Given the description of an element on the screen output the (x, y) to click on. 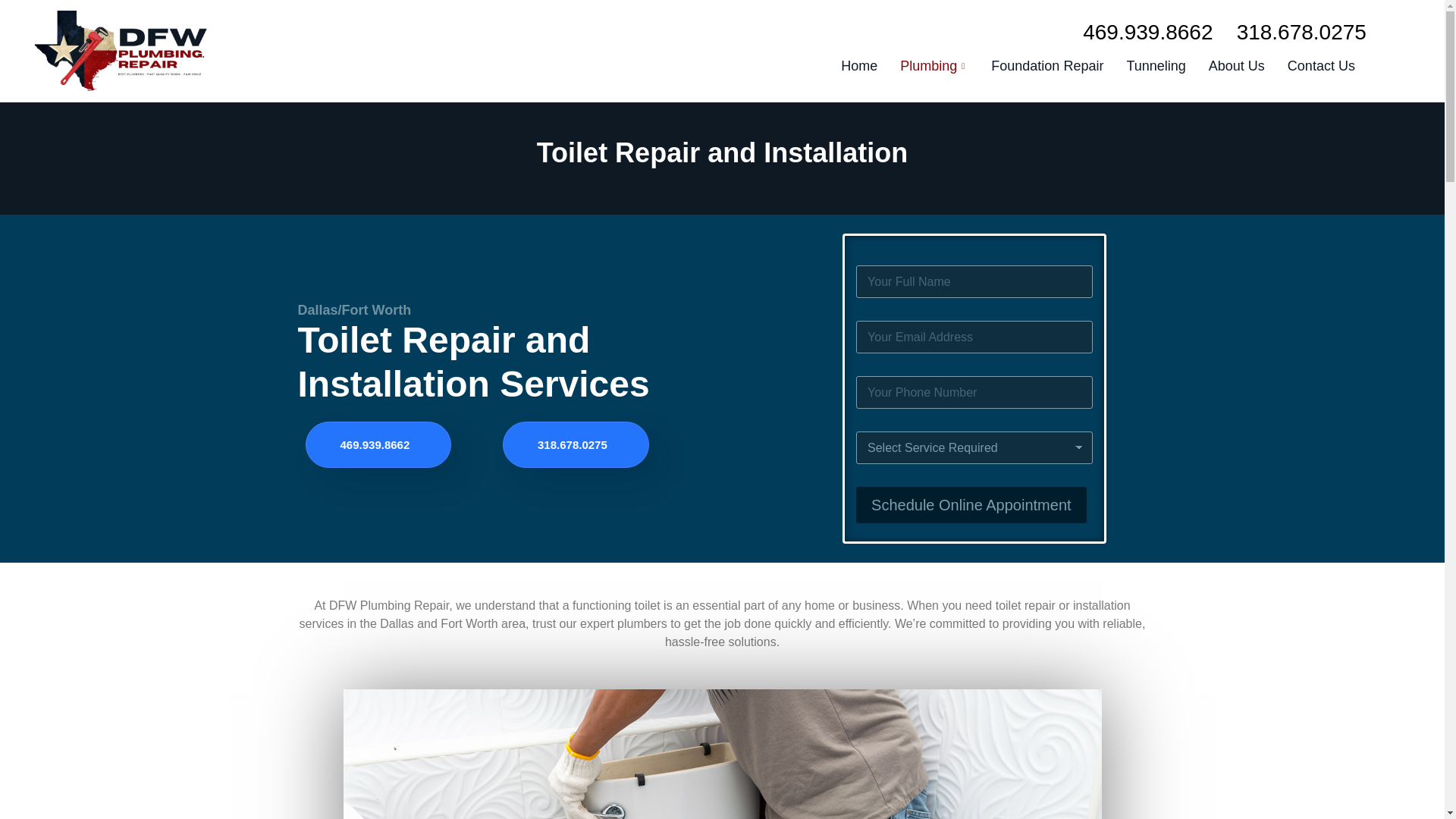
Home (858, 66)
318.678.0275 (1301, 32)
Foundation Repair (1047, 66)
Tunneling (1155, 66)
Plumbing (933, 66)
About Us (1236, 66)
469.939.8662 (1147, 32)
Contact Us (1321, 66)
